Given the description of an element on the screen output the (x, y) to click on. 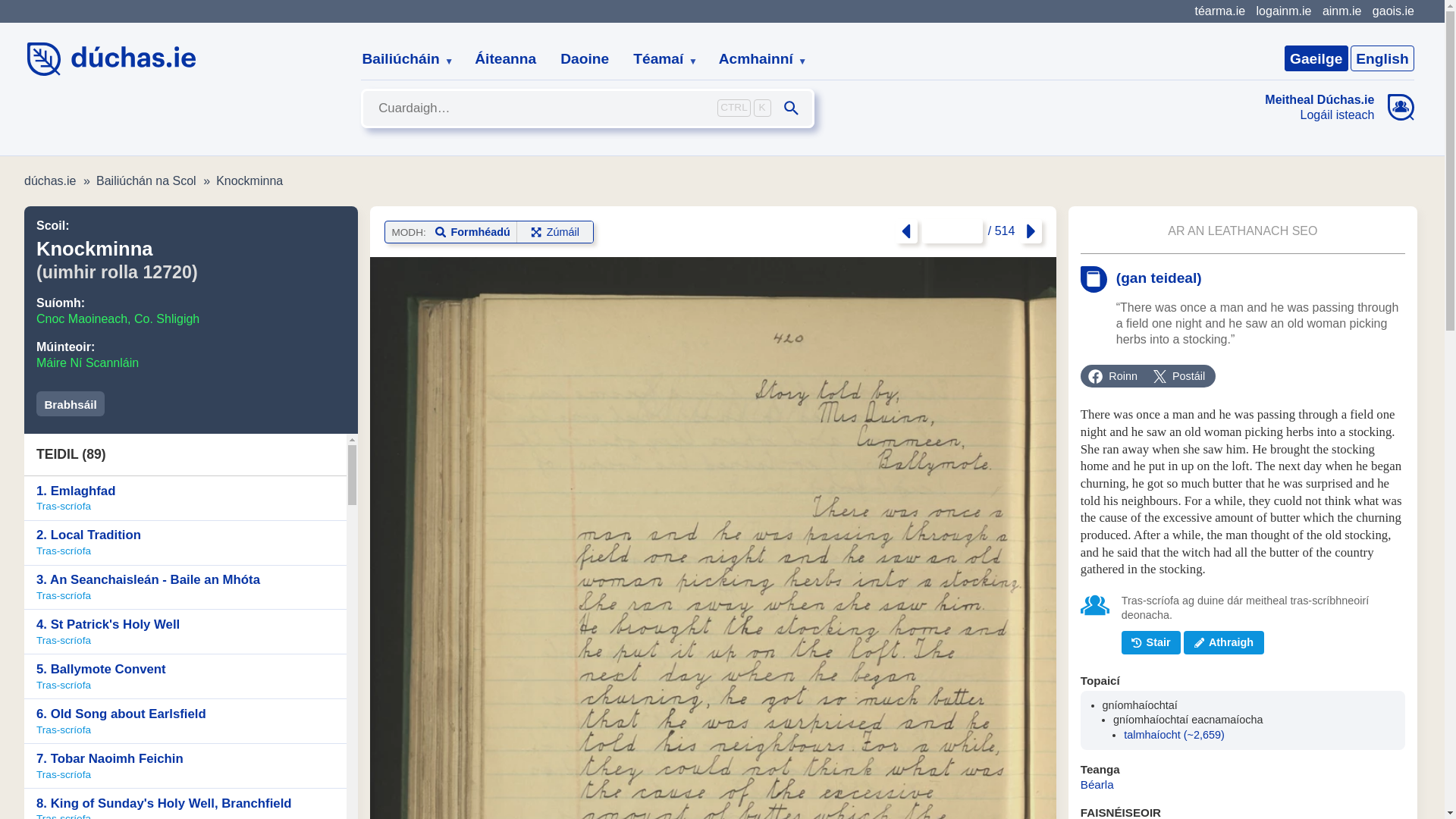
Cnoc Maoineach, Co. Shligigh (117, 318)
gaois.ie (1393, 11)
Knockminna (248, 180)
Gaeilge (1316, 58)
English (1382, 58)
logainm.ie (1283, 11)
ainm.ie (1341, 11)
Daoine (584, 58)
